Given the description of an element on the screen output the (x, y) to click on. 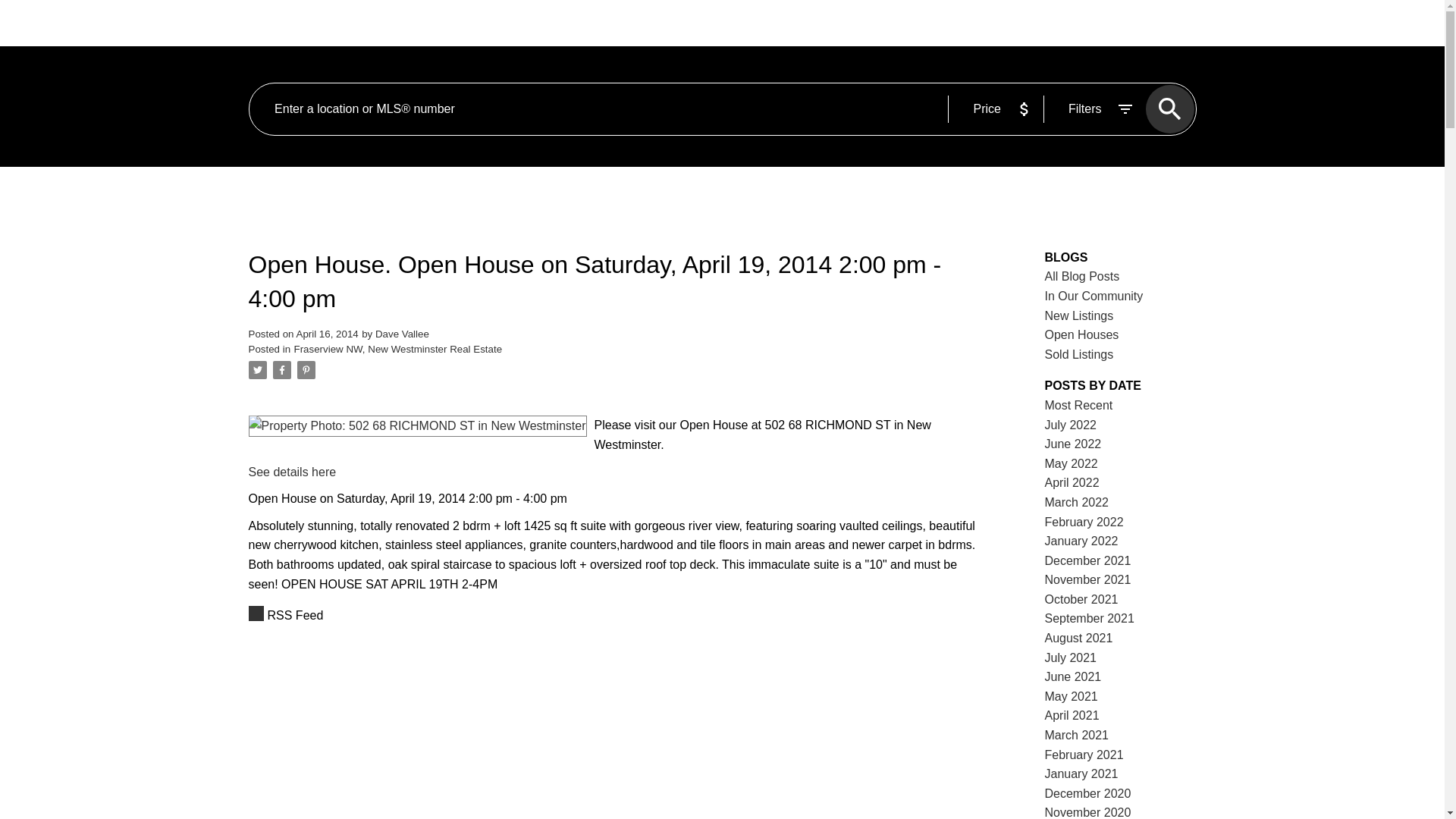
EMAIL (1086, 22)
HOME (511, 23)
RSS (616, 615)
BLOG (834, 23)
604-526-2888 (1154, 22)
Fraserview NW, New Westminster Real Estate (398, 348)
